Given the description of an element on the screen output the (x, y) to click on. 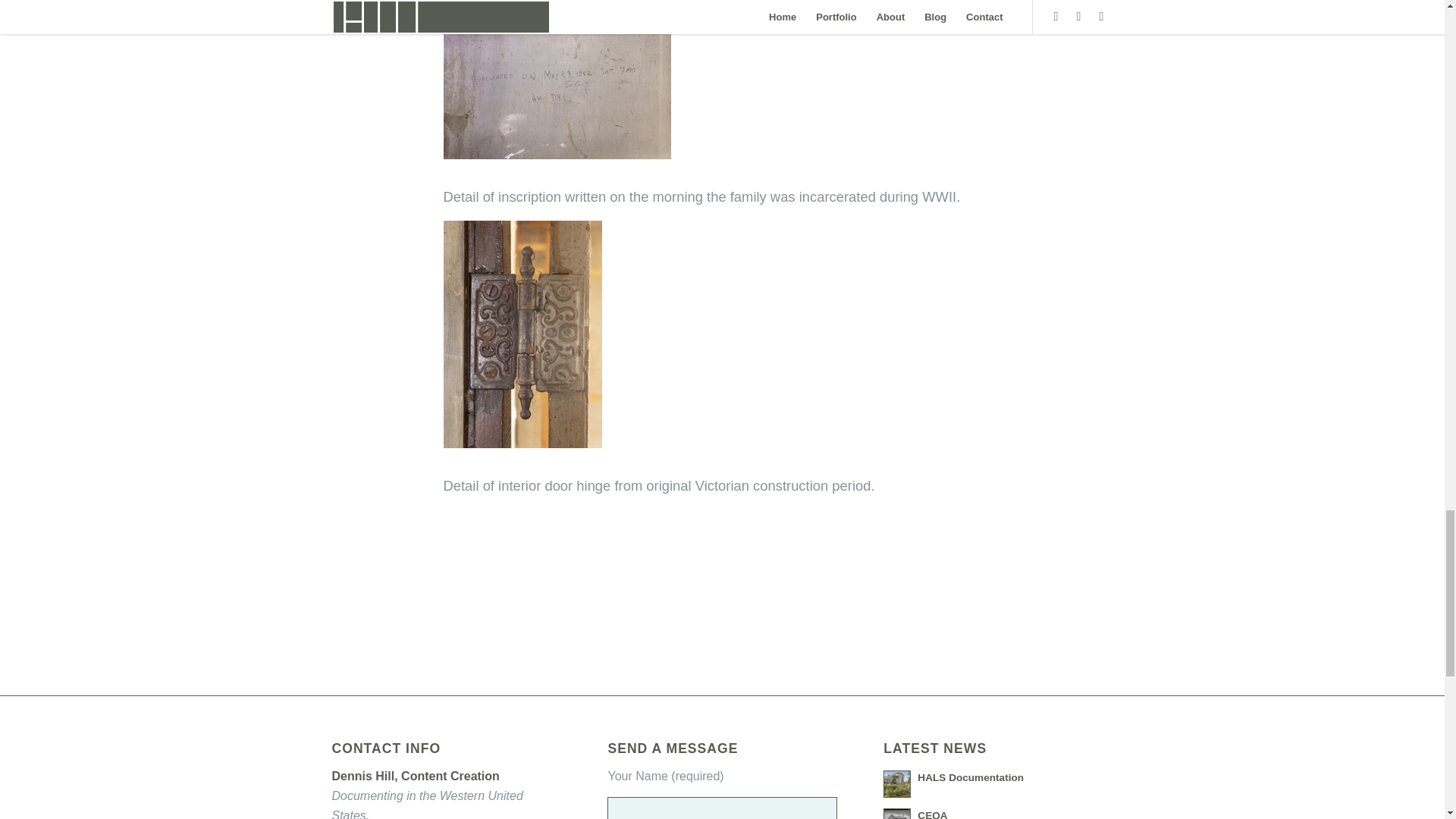
CEQA (932, 814)
Read: HALS Documentation (970, 777)
HALS Documentation (970, 777)
Read: HALS Documentation (897, 783)
Read: CEQA (932, 814)
Read: CEQA (897, 813)
